Given the description of an element on the screen output the (x, y) to click on. 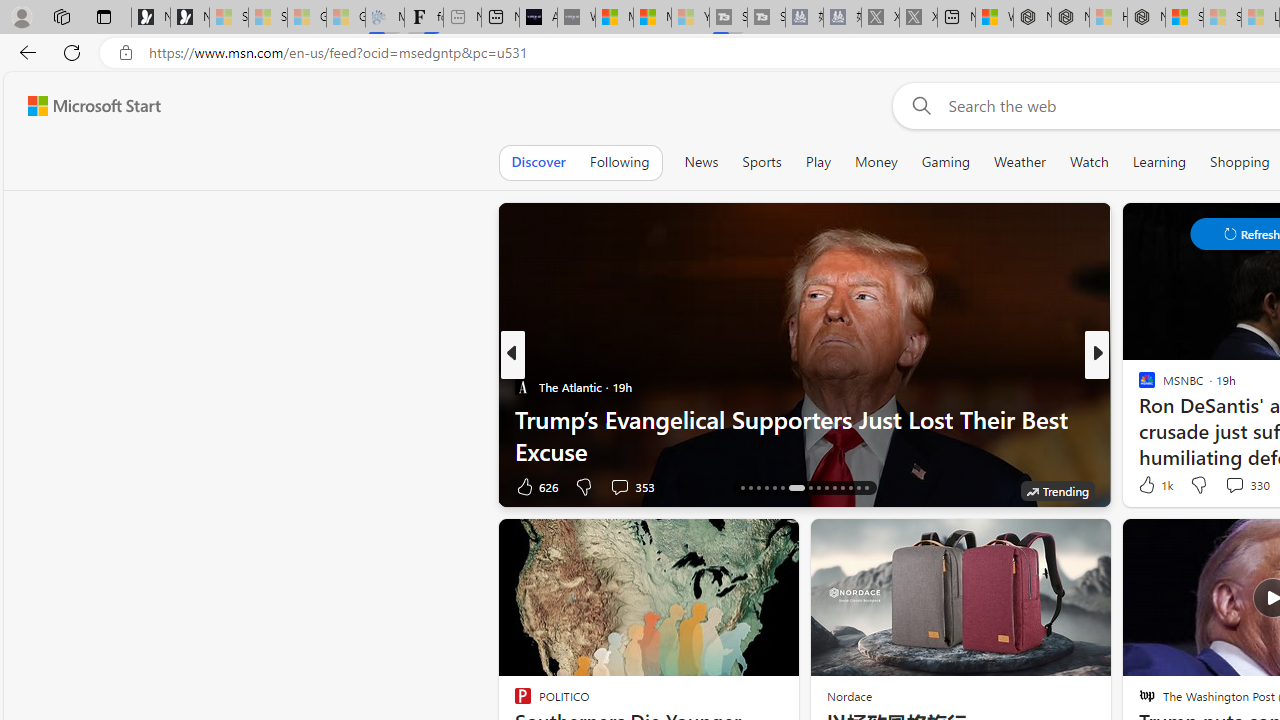
Comments turned off for this story (1222, 486)
Start the conversation (1222, 485)
View comments 353 Comment (632, 486)
View comments 55 Comment (1229, 485)
Skip to footer (82, 105)
See more (774, 542)
497 Like (1151, 486)
AutomationID: tab-30 (865, 487)
X - Sleeping (917, 17)
View comments 2 Comment (1234, 486)
View comments 33 Comment (1237, 486)
